Given the description of an element on the screen output the (x, y) to click on. 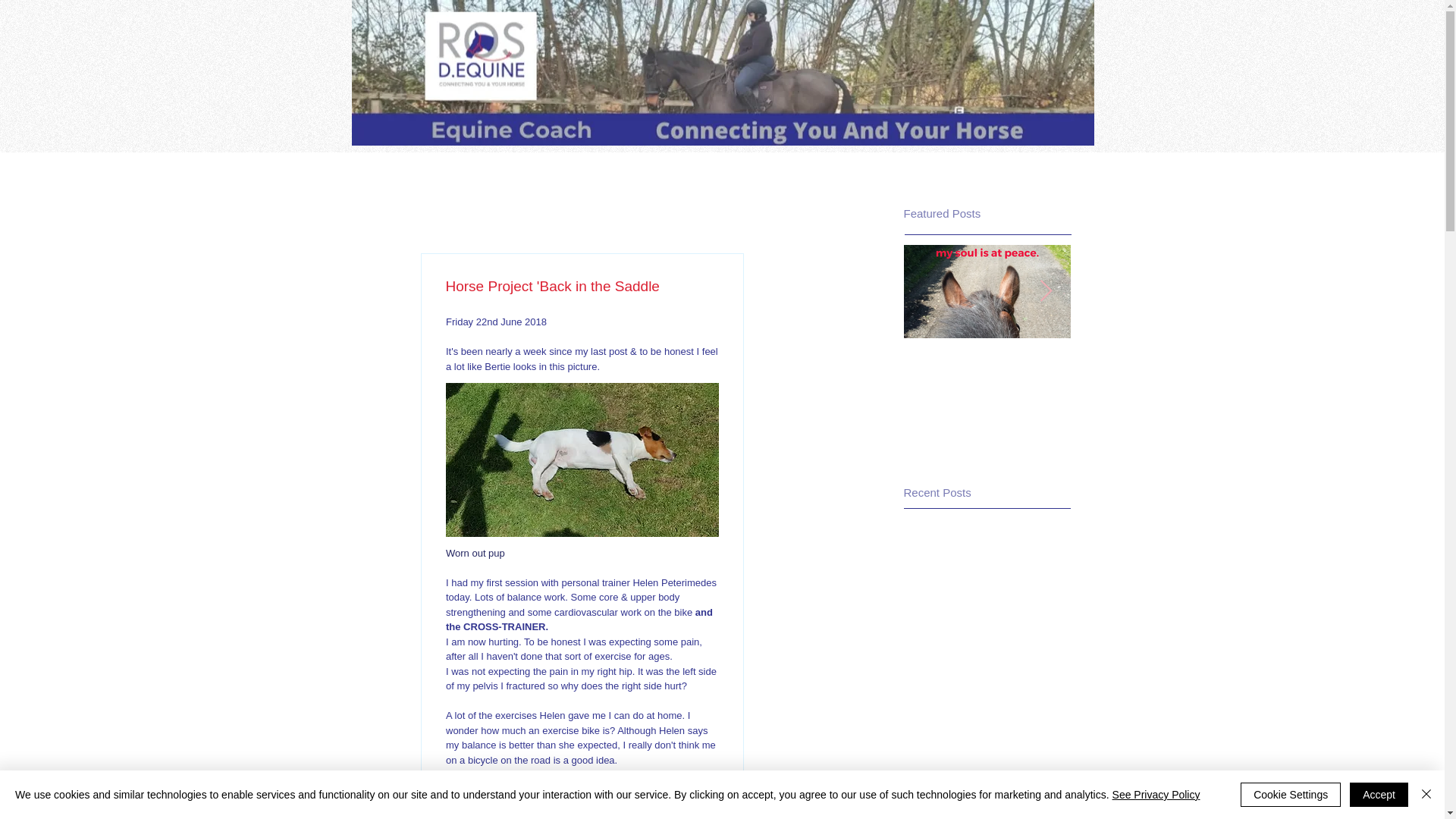
Who am I, besides a horse lover and a riding instructor? (1153, 386)
Schooling at home (723, 72)
Where does your soul find peace? (987, 412)
Worn out pup (475, 552)
